Given the description of an element on the screen output the (x, y) to click on. 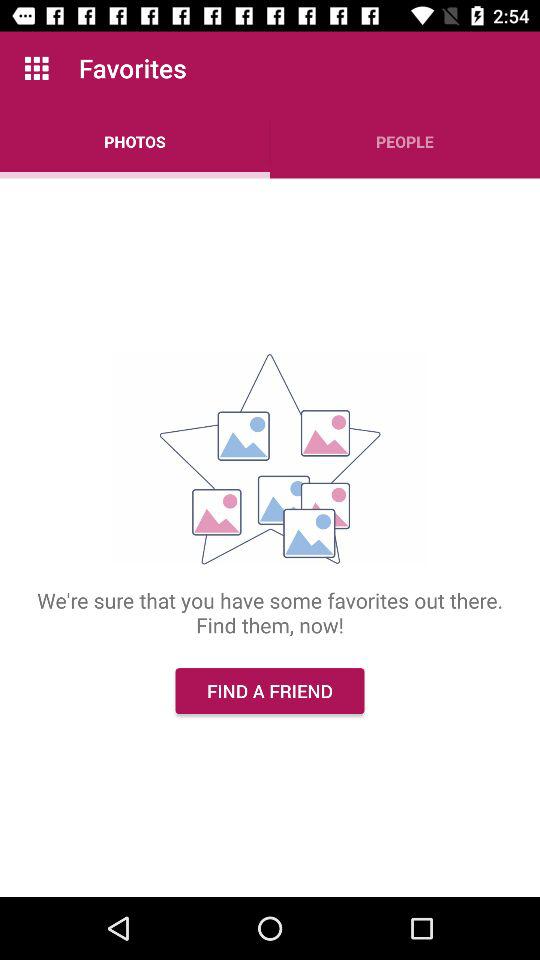
press the photos app (135, 141)
